Given the description of an element on the screen output the (x, y) to click on. 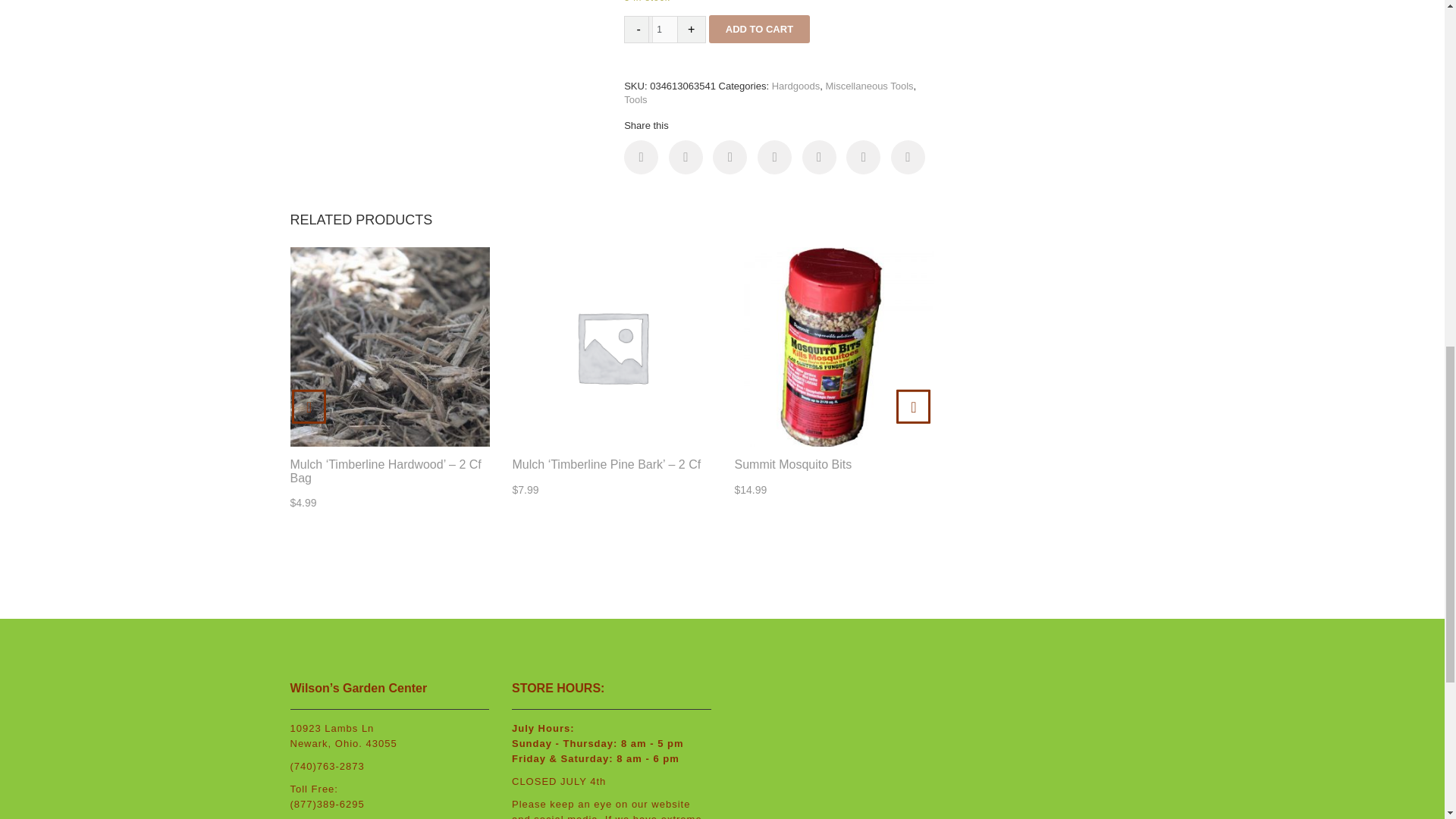
Hardgoods (796, 85)
Miscellaneous Tools (868, 85)
Tools (635, 99)
- (638, 29)
1 (664, 29)
ADD TO CART (759, 29)
Summit Mosquito Bits (833, 464)
